Given the description of an element on the screen output the (x, y) to click on. 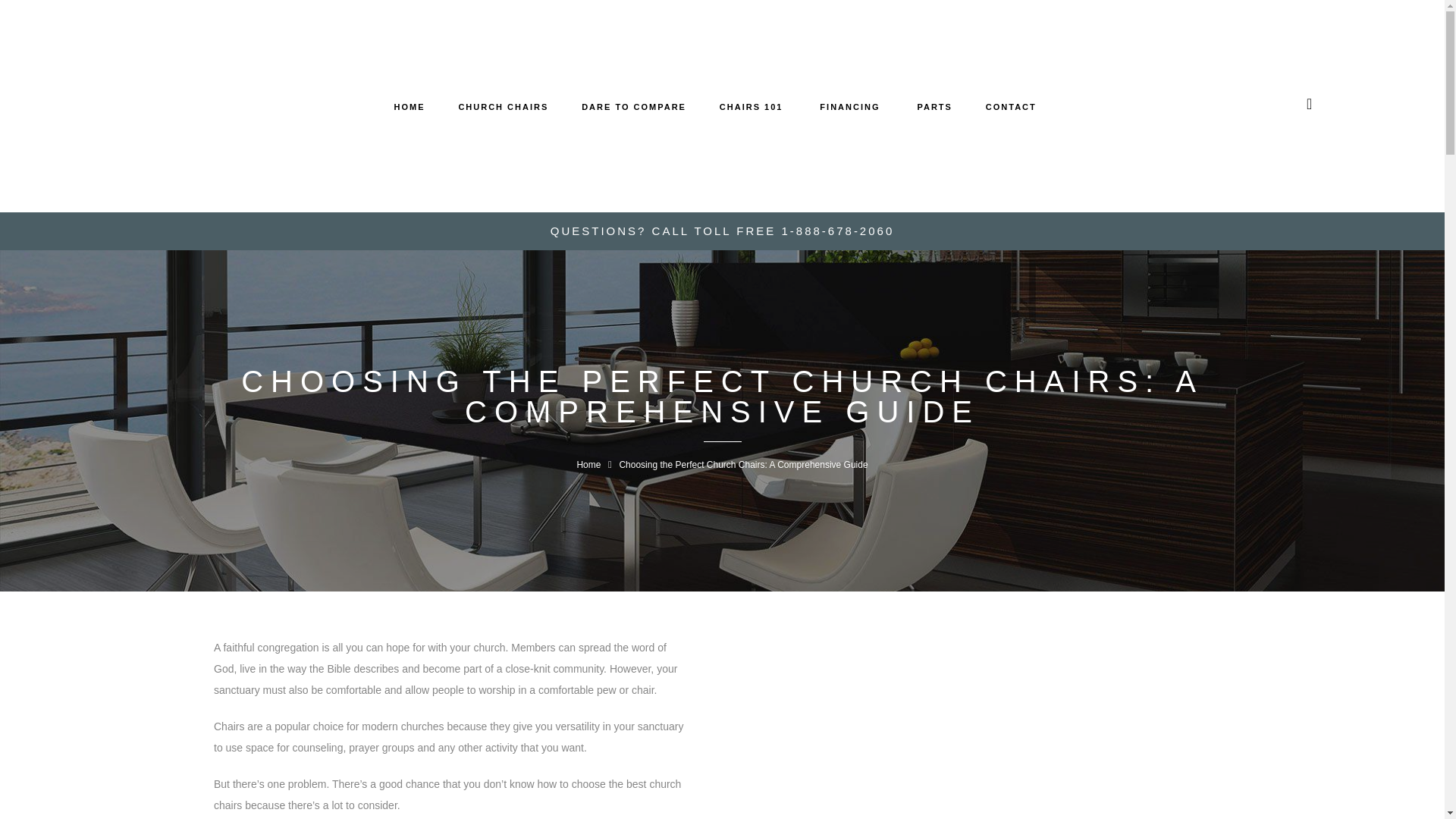
 FINANCING (847, 106)
QUESTIONS? CALL TOLL FREE 1-888-678-2060 (722, 230)
Home (409, 106)
Dare to Compare (632, 106)
HOME (409, 106)
Parts (932, 106)
Church Chairs (503, 106)
Contact (1010, 106)
Financing (847, 106)
CONTACT (1010, 106)
 PARTS (932, 106)
CHURCH CHAIRS (503, 106)
DARE TO COMPARE (632, 106)
CHAIRS 101 (751, 106)
Home (587, 464)
